Given the description of an element on the screen output the (x, y) to click on. 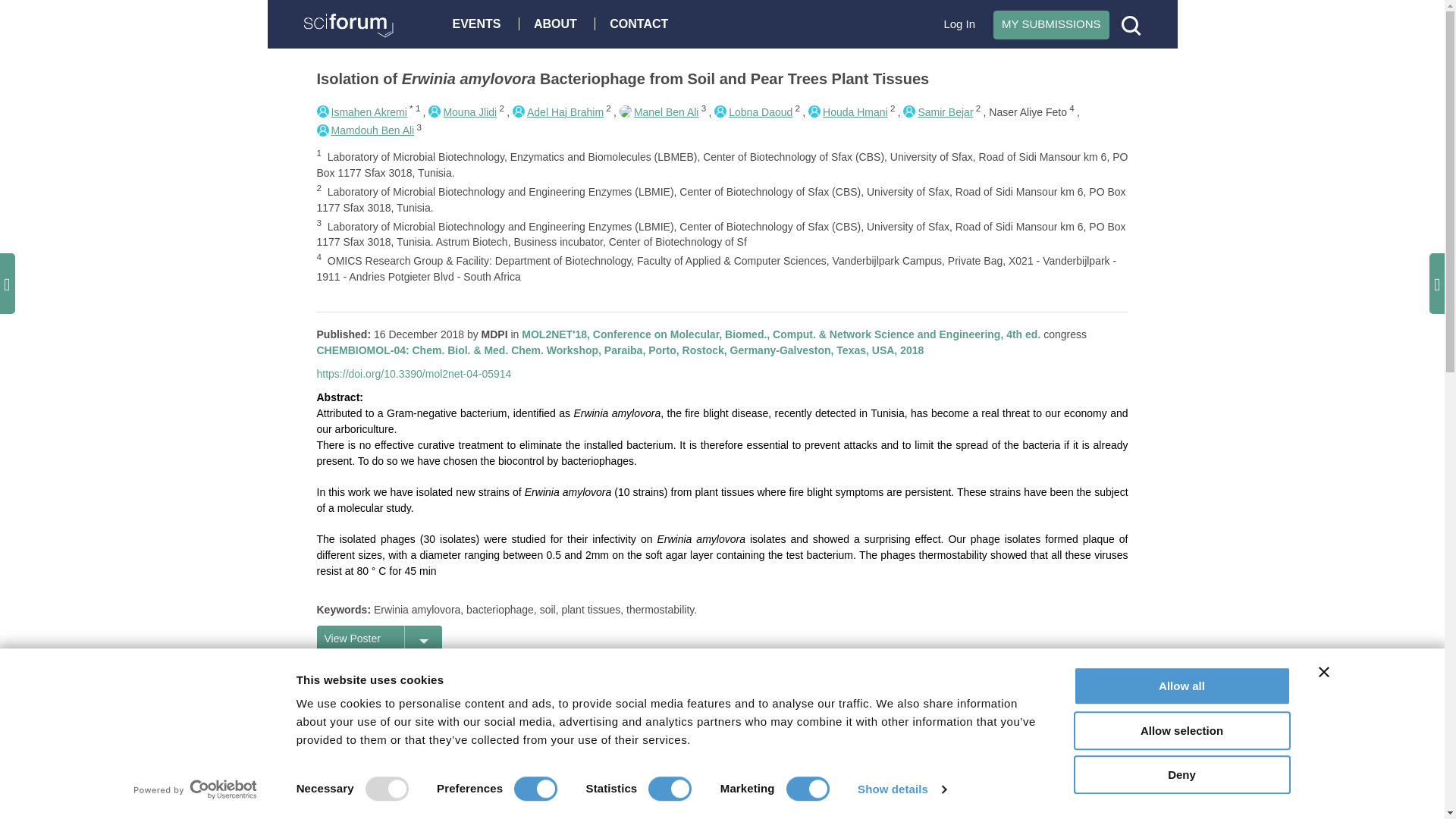
Show details (900, 789)
